Given the description of an element on the screen output the (x, y) to click on. 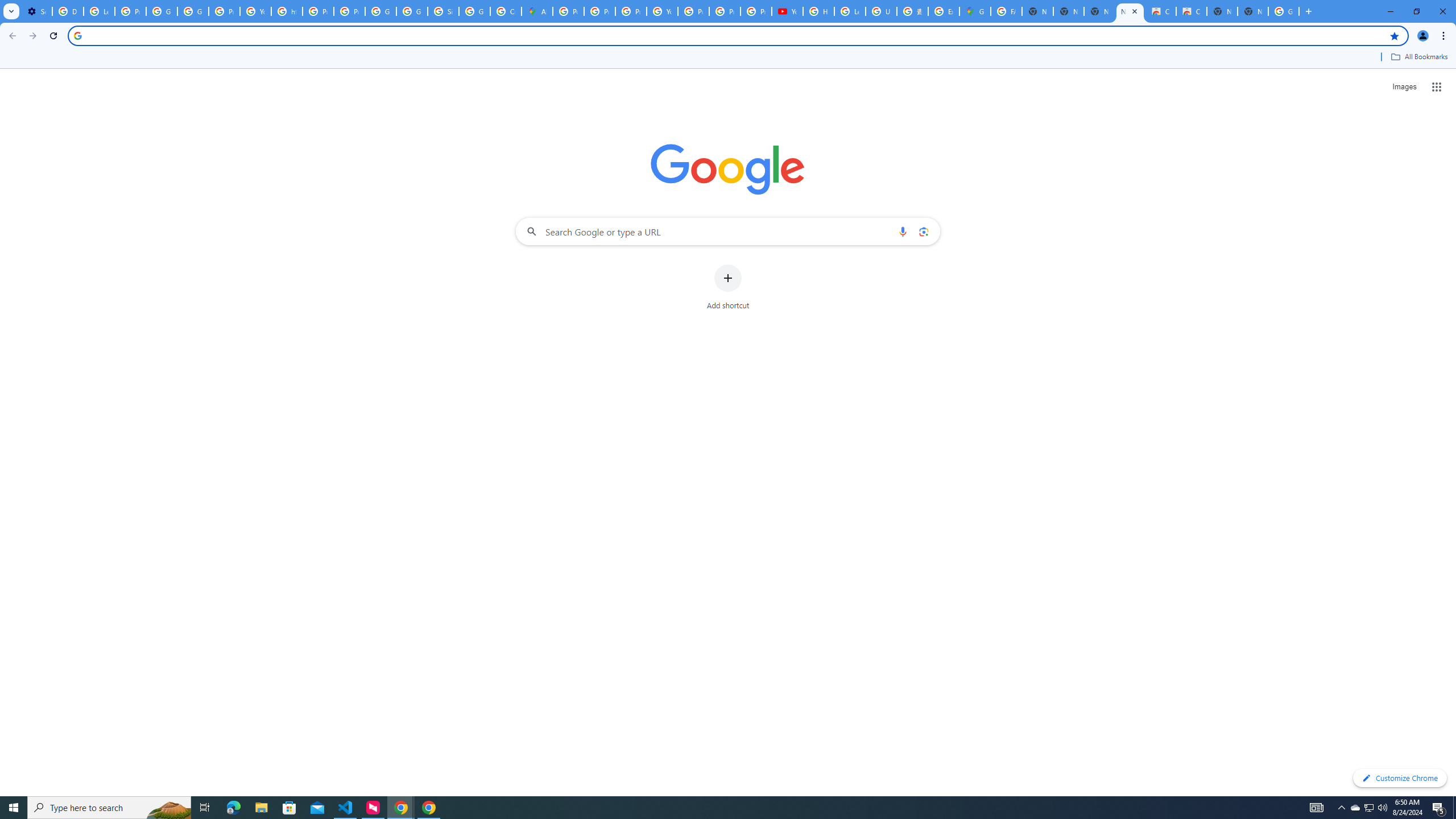
Bookmarks (728, 58)
YouTube (255, 11)
Privacy Checkup (724, 11)
Search Google or type a URL (727, 230)
How Chrome protects your passwords - Google Chrome Help (818, 11)
